Given the description of an element on the screen output the (x, y) to click on. 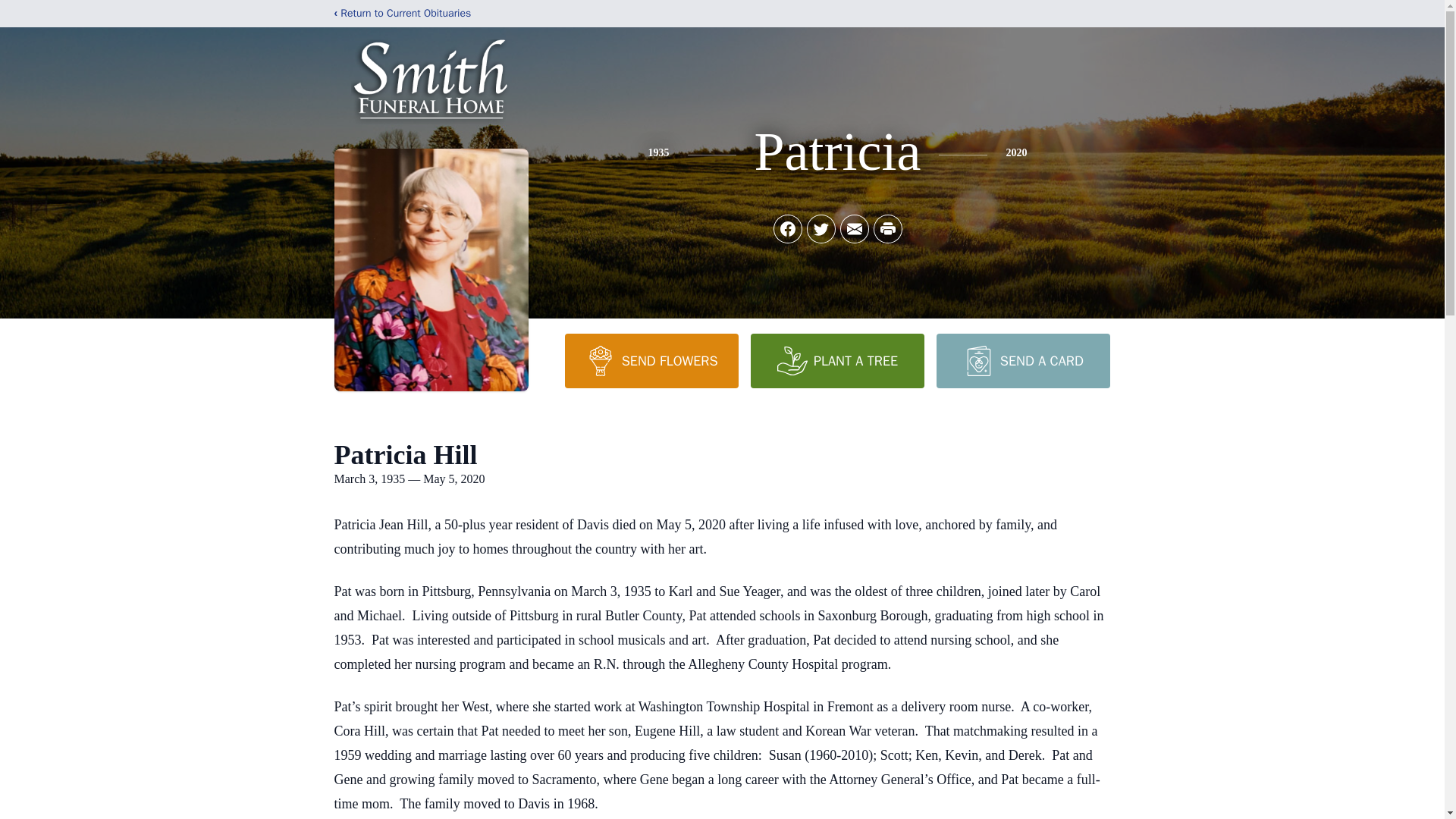
SEND FLOWERS (651, 360)
SEND A CARD (1022, 360)
PLANT A TREE (837, 360)
